Given the description of an element on the screen output the (x, y) to click on. 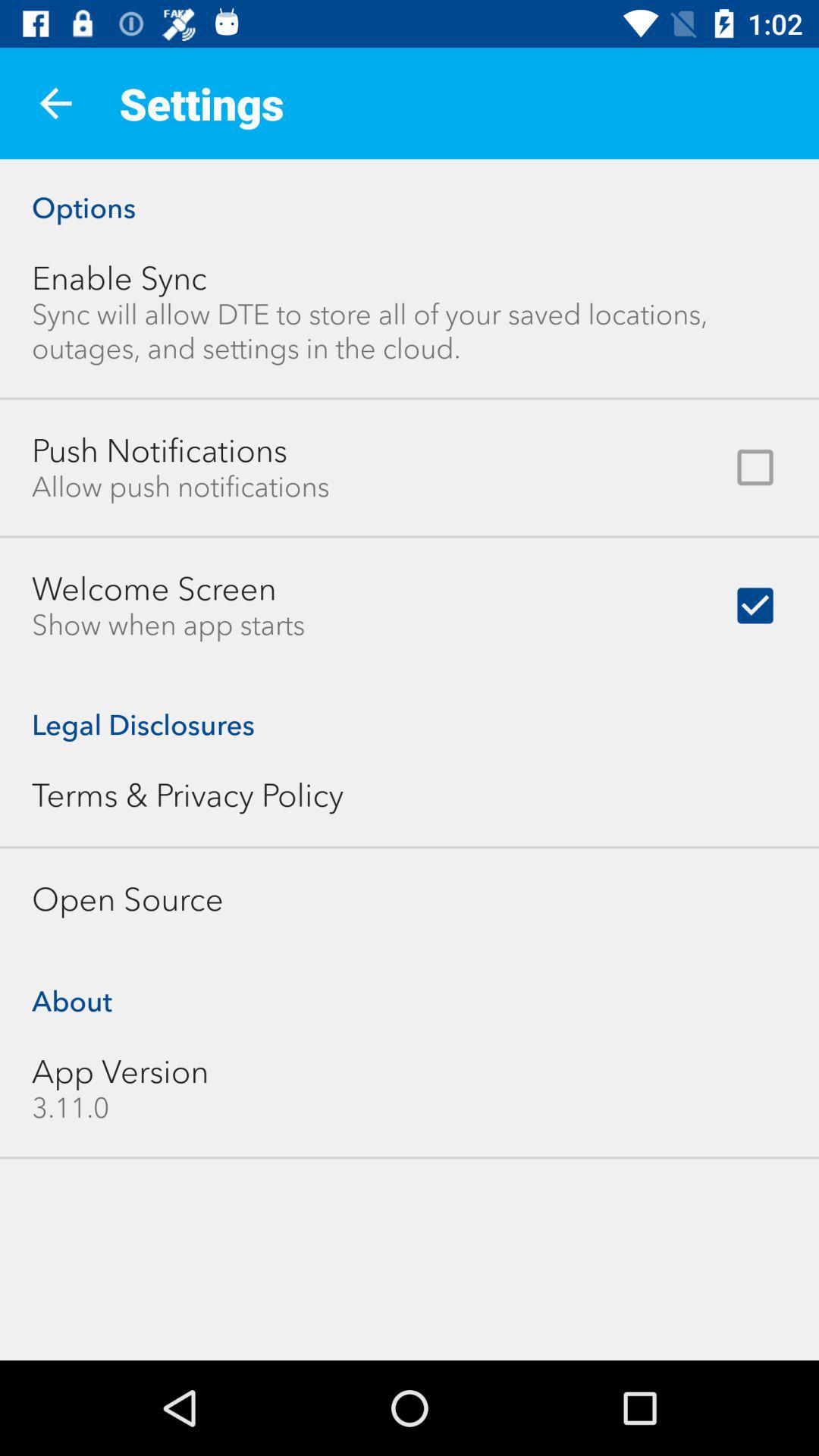
turn on the app next to settings (55, 103)
